Given the description of an element on the screen output the (x, y) to click on. 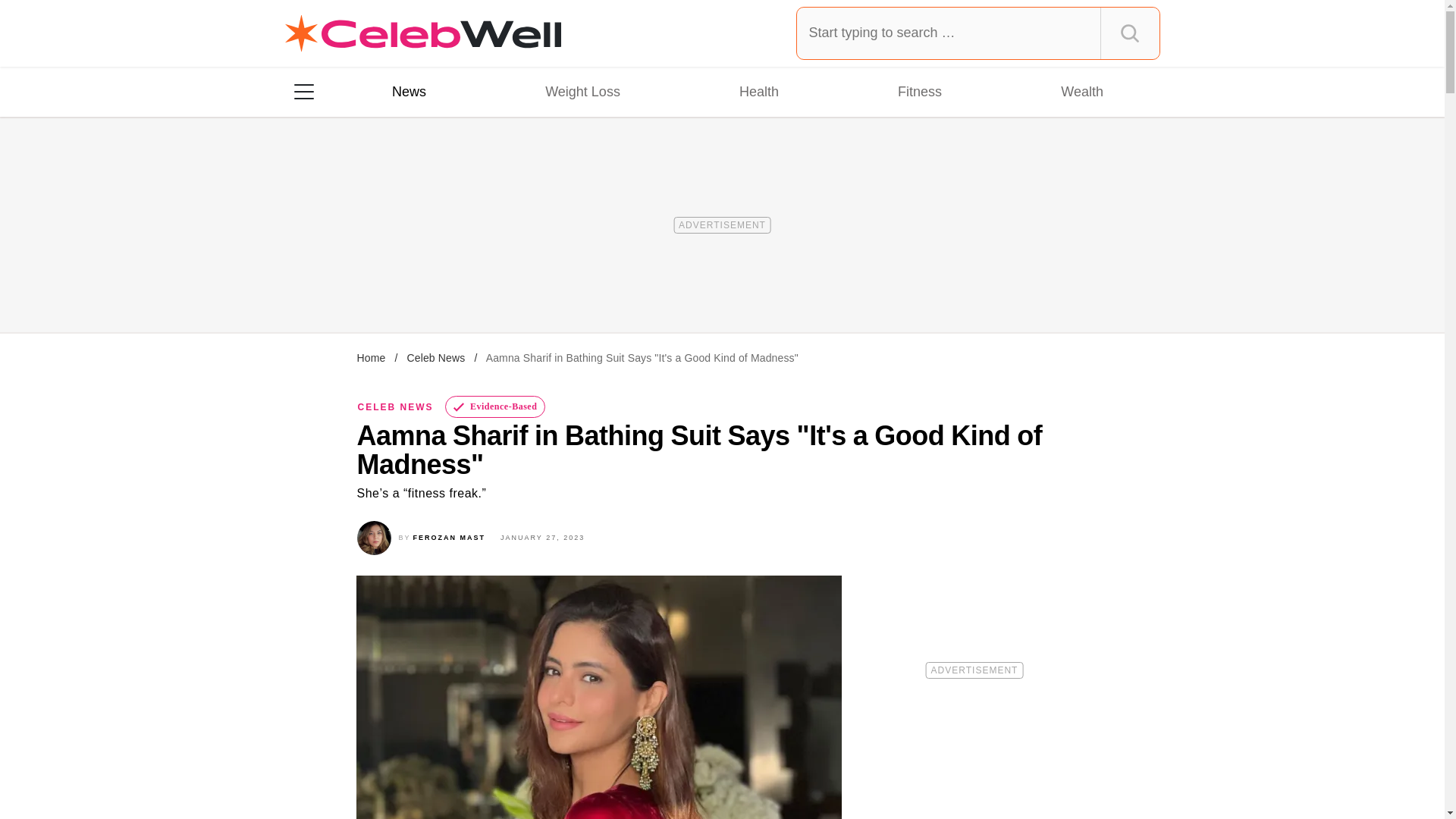
Fitness (919, 91)
Home (370, 357)
Celeb News (435, 357)
Celebwell Homepage (422, 33)
Wealth (1081, 91)
Type and press Enter to search (978, 32)
CELEB NEWS (395, 407)
Weight Loss (582, 91)
Health (758, 91)
News (408, 91)
